Given the description of an element on the screen output the (x, y) to click on. 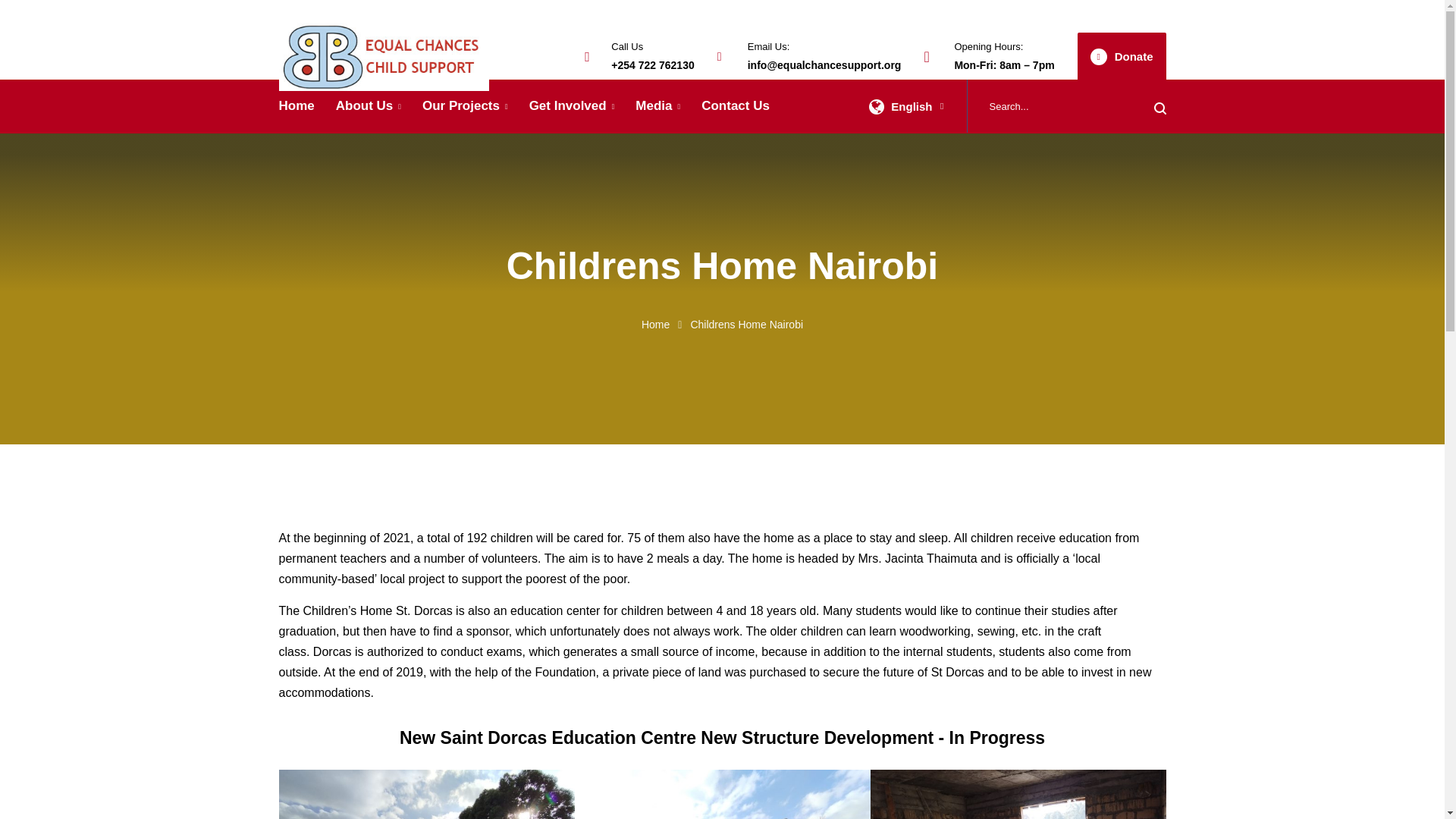
Home (655, 324)
Contact Us (735, 105)
English (906, 105)
Our Projects (465, 106)
Donate (1121, 56)
Equal Chances Child Support (384, 55)
Get Involved (571, 106)
English (876, 106)
About Us (368, 106)
